Given the description of an element on the screen output the (x, y) to click on. 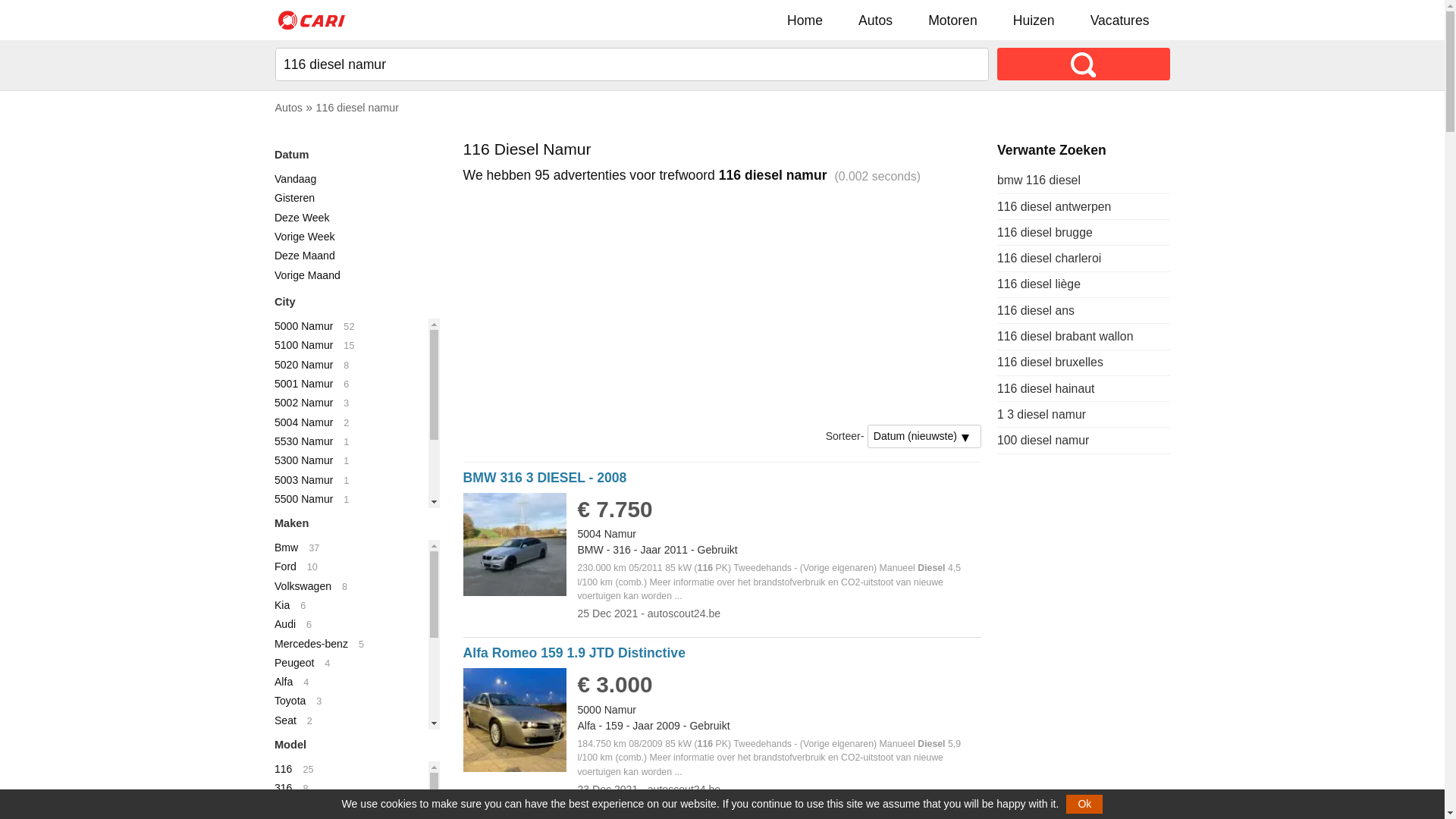
Alfa Romeo 159 1.9 JTD Distinctive Element type: text (574, 652)
116 diesel namur Element type: text (357, 107)
Alfa Romeo 159 1.9 JTD Distinctive Element type: hover (515, 767)
116 diesel bruxelles Element type: text (1050, 361)
Home Element type: text (804, 20)
Motoren Element type: text (952, 20)
116 diesel ans Element type: text (1035, 310)
Huizen Element type: text (1033, 20)
BMW 316 3 DIESEL - 2008 Element type: hover (515, 591)
bmw 116 diesel Element type: text (1038, 179)
1 3 diesel namur Element type: text (1041, 413)
Advertisement Element type: hover (722, 304)
116 diesel brugge Element type: text (1044, 231)
BMW 316 3 DIESEL - 2008 Element type: text (545, 477)
Ok Element type: text (1084, 803)
Autos Element type: text (875, 20)
116 diesel charleroi Element type: text (1049, 257)
116 diesel brabant wallon Element type: text (1065, 335)
116 diesel hainaut Element type: text (1046, 388)
Vacatures Element type: text (1119, 20)
Autos Element type: text (287, 107)
116 diesel antwerpen Element type: text (1053, 206)
100 diesel namur Element type: text (1042, 439)
